Given the description of an element on the screen output the (x, y) to click on. 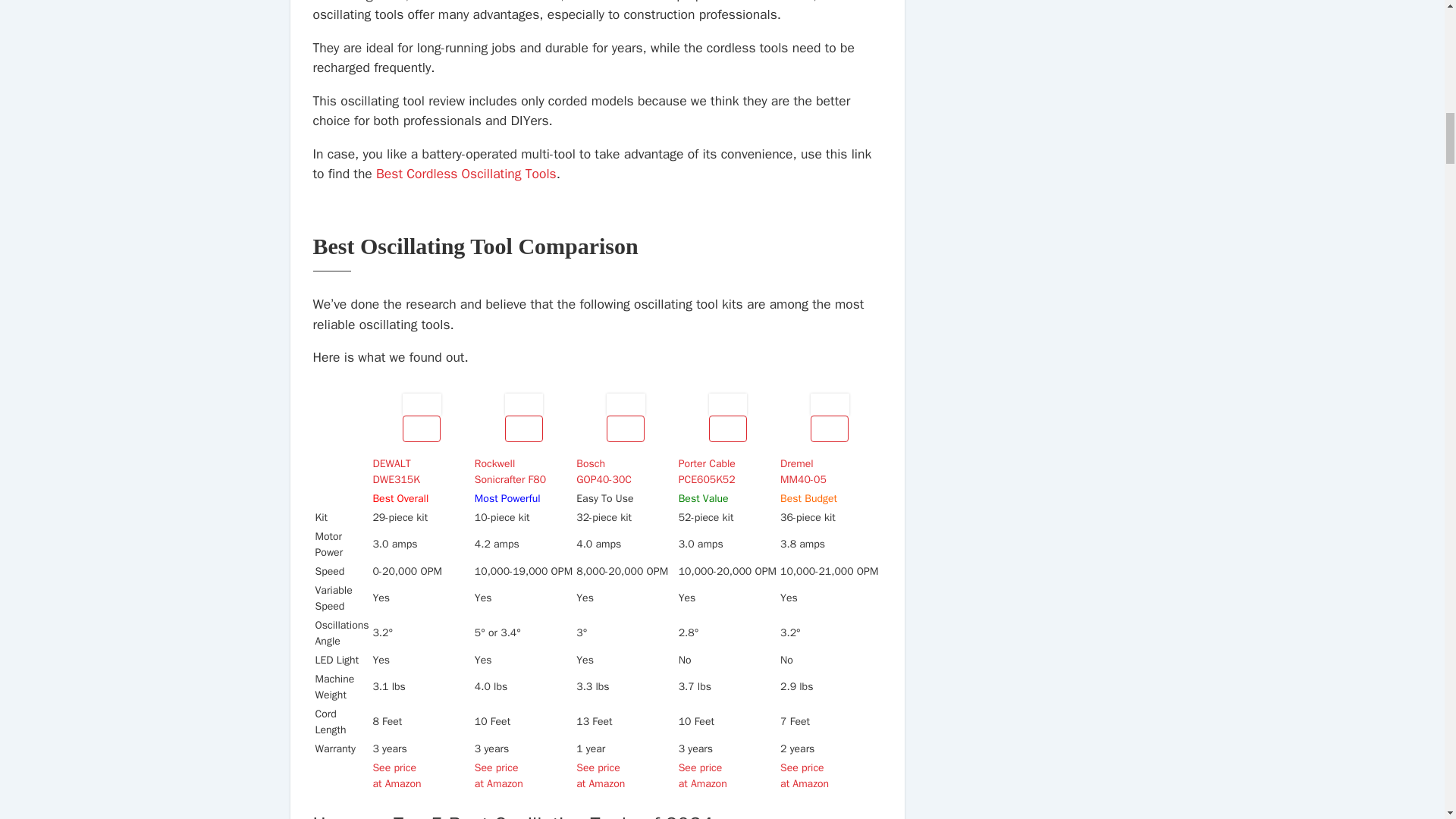
Best Cordless Oscillating Tools (465, 173)
